Given the description of an element on the screen output the (x, y) to click on. 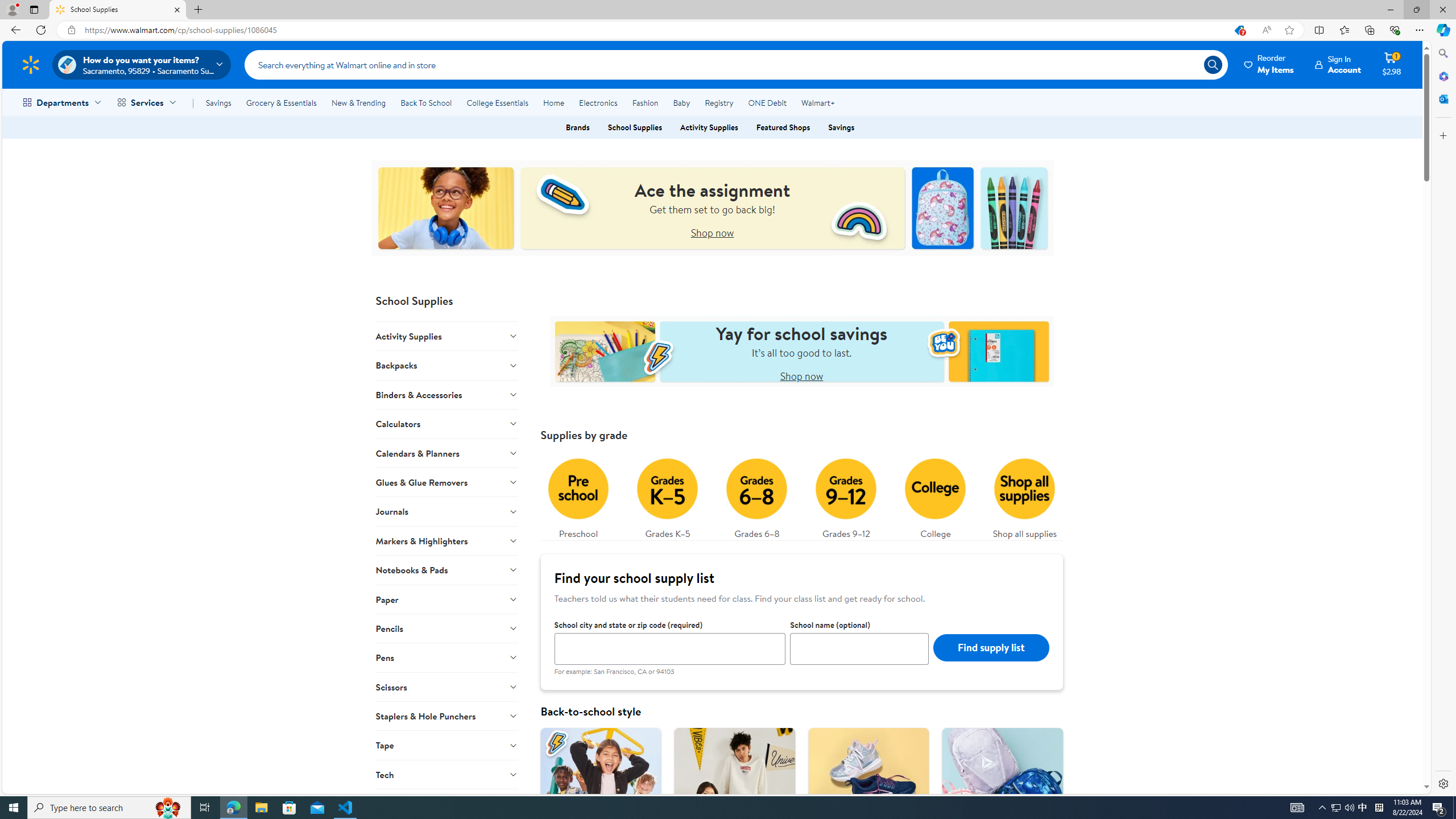
Markers & Highlighters (446, 540)
Calculators (446, 423)
New & Trending (358, 102)
Sign InAccount (1338, 64)
College Essentials (496, 102)
Walmart+ (817, 102)
College (935, 495)
ReorderMy Items (1269, 64)
Fashion (644, 102)
